Given the description of an element on the screen output the (x, y) to click on. 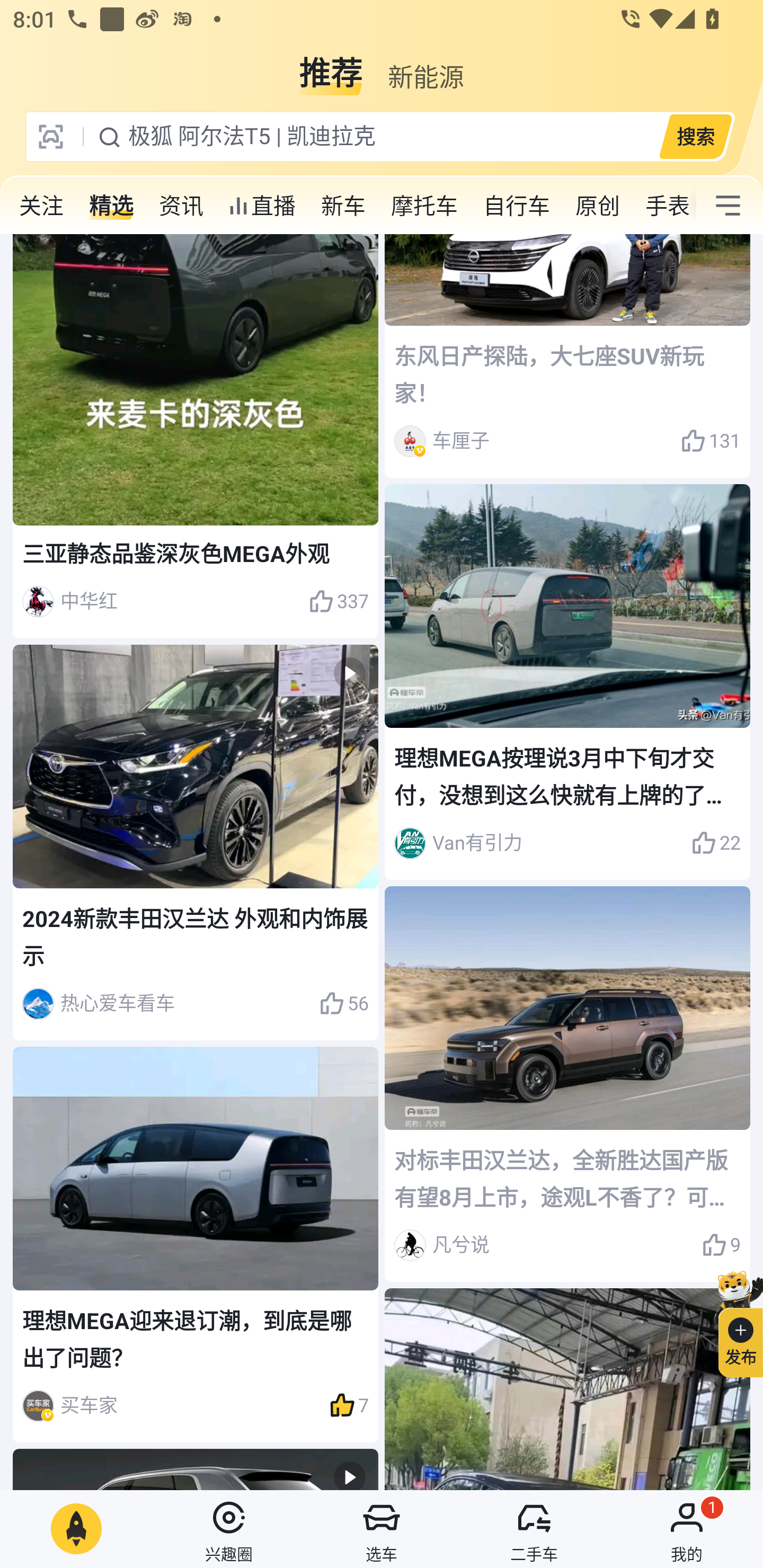
推荐 (330, 65)
新能源 (425, 65)
搜索 (695, 136)
关注 (41, 205)
精选 (111, 205)
资讯 (180, 205)
直播 (261, 205)
新车 (343, 205)
摩托车 (424, 205)
自行车 (516, 205)
原创 (597, 205)
手表 (663, 205)
 (727, 205)
三亚静态品鉴深灰色MEGA外观 中华红 337 (195, 435)
东风日产探陆，大七座SUV新玩家！ 车厘子 131 (567, 355)
131 (710, 441)
337 (338, 601)
 2024新款丰田汉兰达 外观和内饰展示 热心爱车看车 56 (195, 842)
22 (715, 843)
56 (343, 1003)
理想MEGA迎来退订潮，到底是哪出了问题？ 买车家 7 (195, 1244)
9 (720, 1244)
发布 (732, 1321)
7 (348, 1405)
 兴趣圈 (228, 1528)
 选车 (381, 1528)
 二手车 (533, 1528)
 我的 (686, 1528)
